Given the description of an element on the screen output the (x, y) to click on. 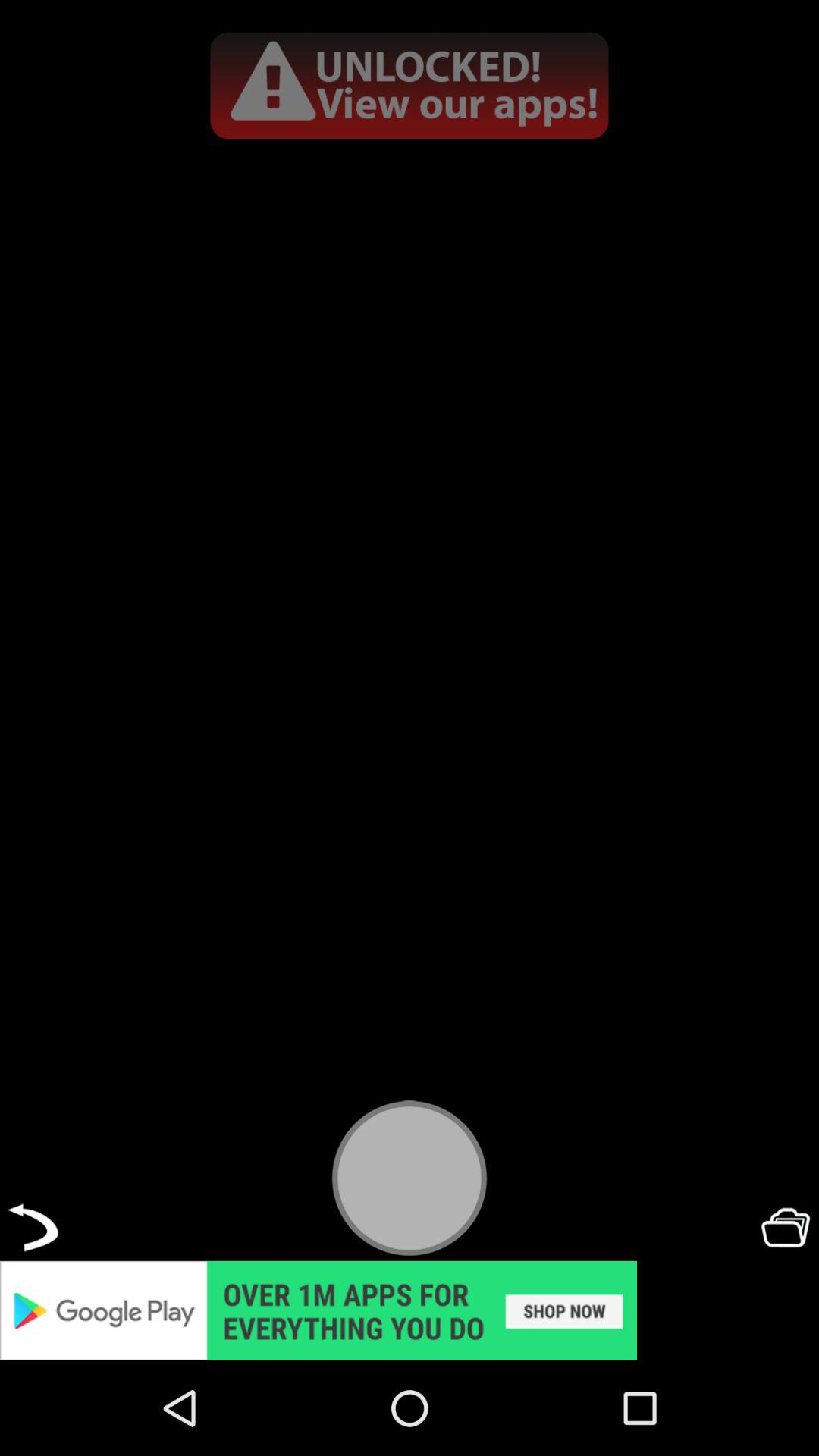
click advertisement (409, 1310)
